Given the description of an element on the screen output the (x, y) to click on. 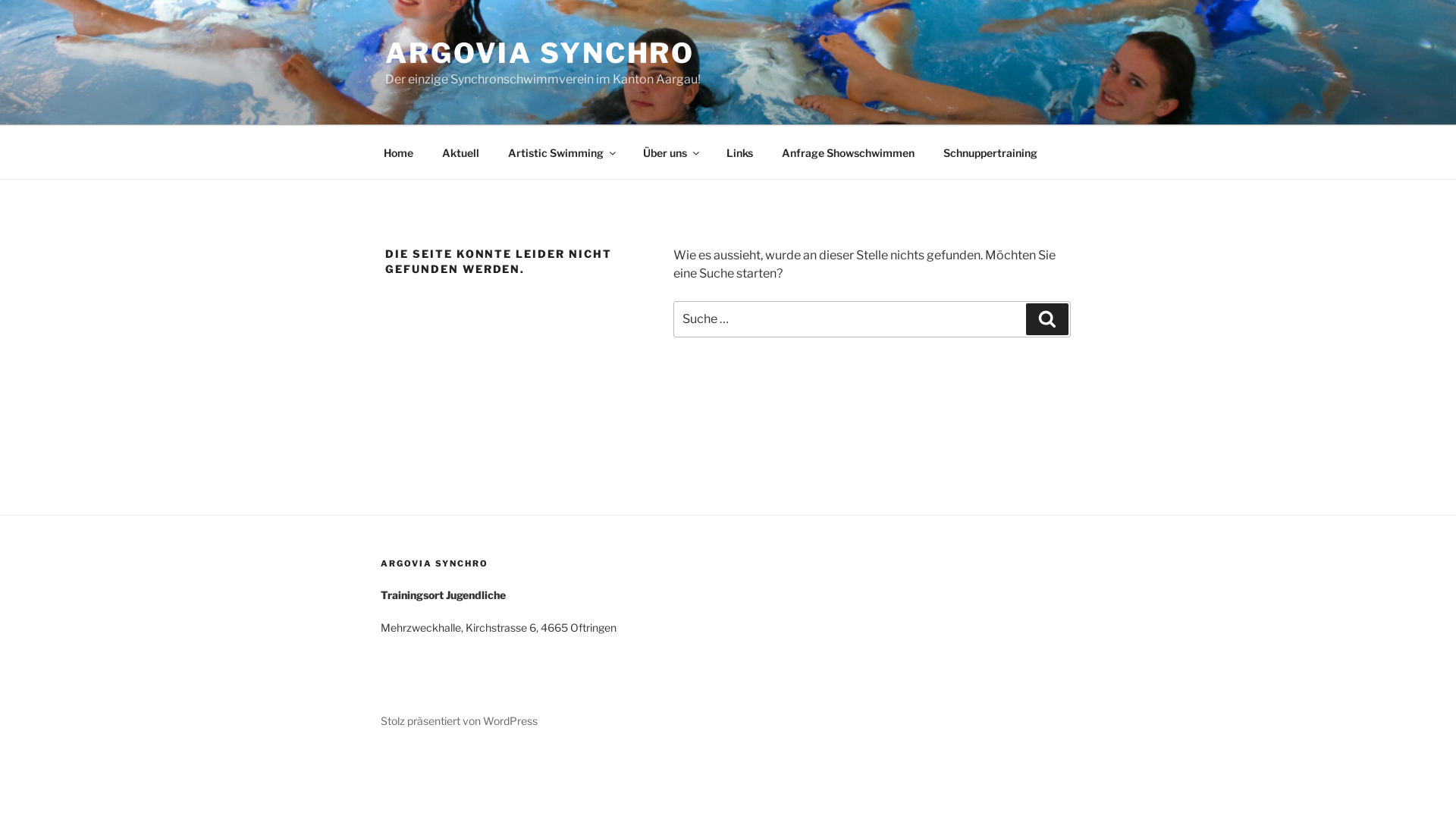
Schnuppertraining Element type: text (989, 151)
Aktuell Element type: text (460, 151)
Links Element type: text (738, 151)
Suche Element type: text (1047, 319)
Artistic Swimming Element type: text (560, 151)
ARGOVIA SYNCHRO Element type: text (539, 52)
Anfrage Showschwimmen Element type: text (847, 151)
Home Element type: text (398, 151)
